Given the description of an element on the screen output the (x, y) to click on. 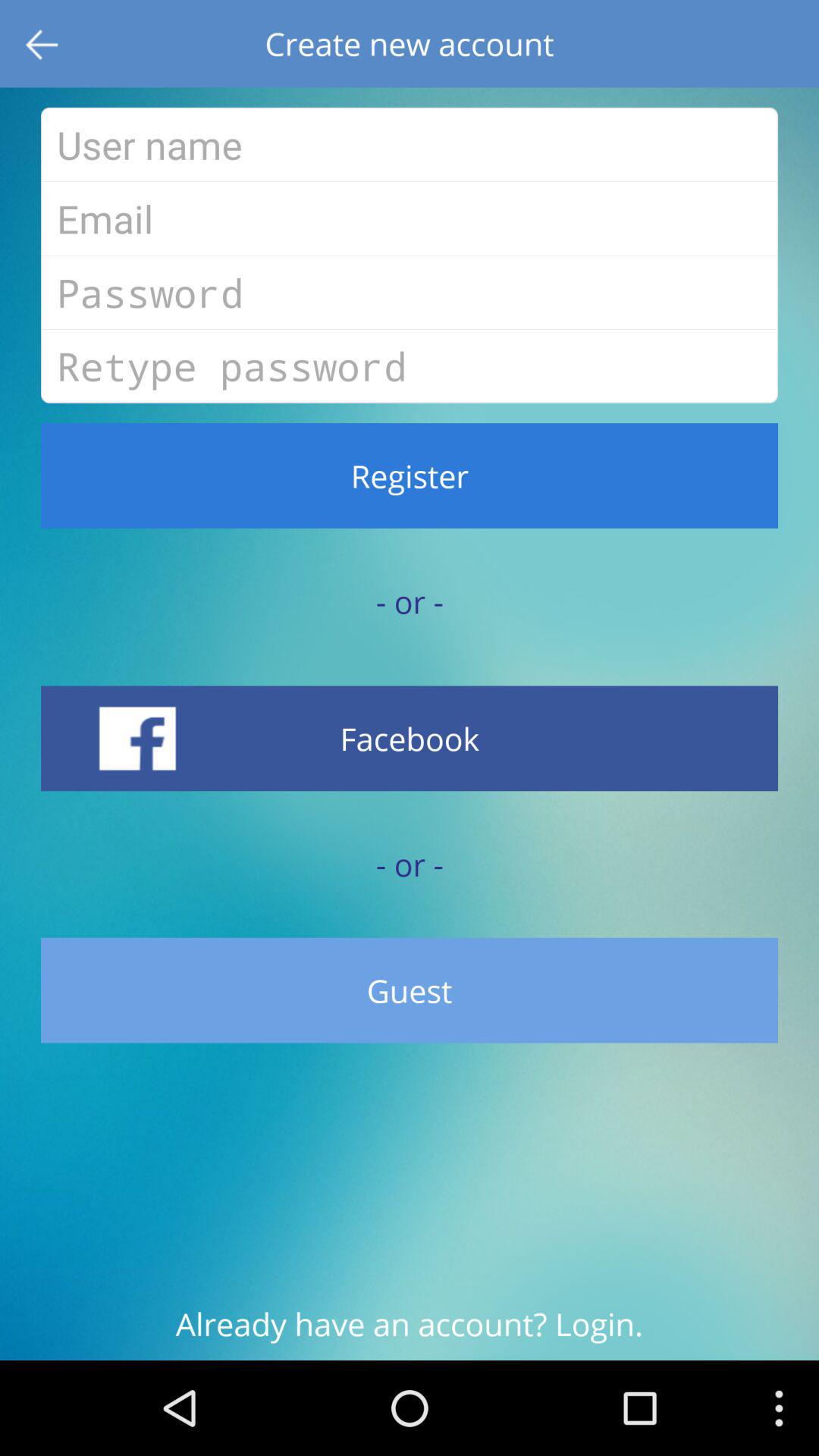
retype password (409, 366)
